Given the description of an element on the screen output the (x, y) to click on. 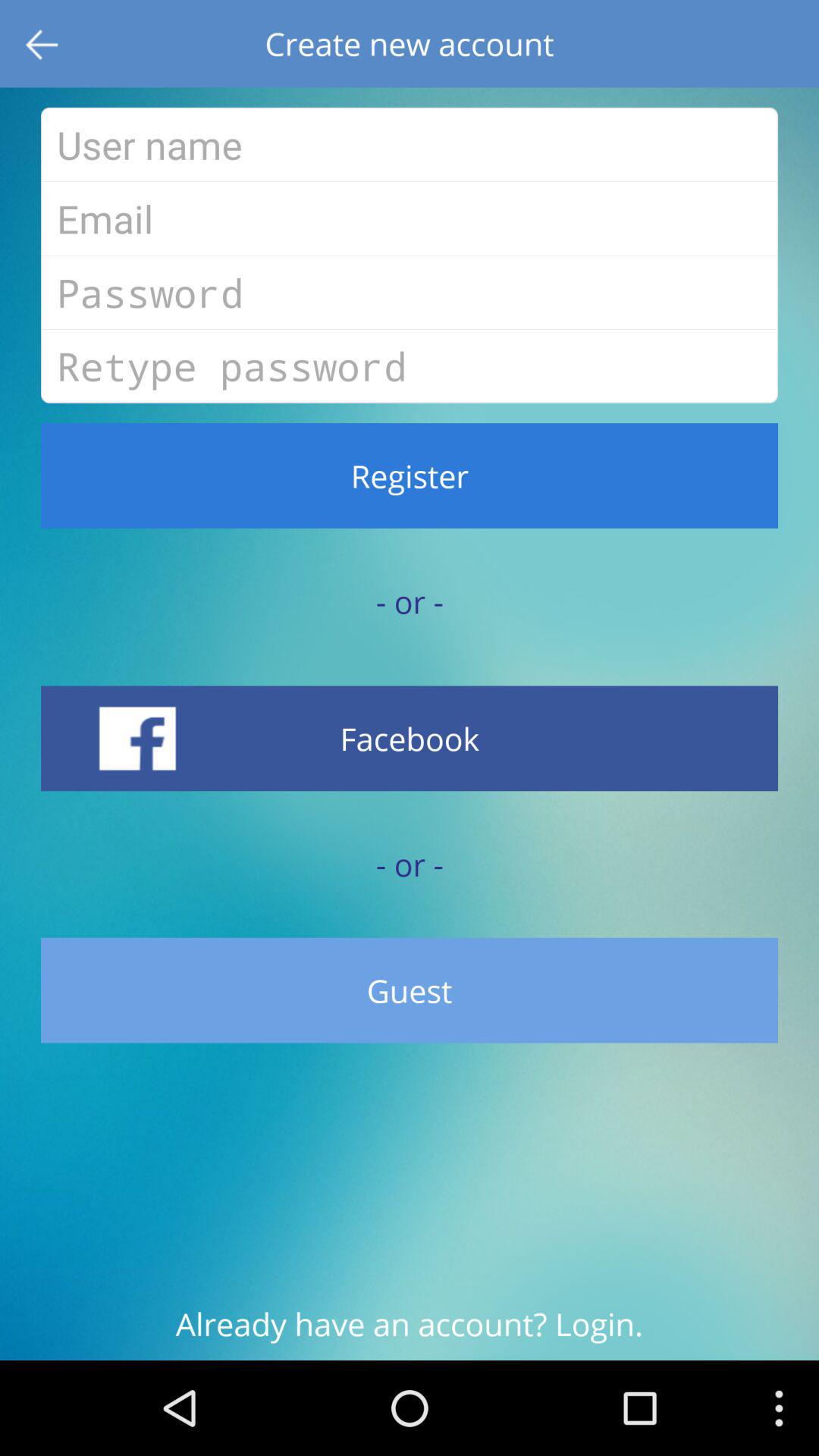
retype password (409, 366)
